Given the description of an element on the screen output the (x, y) to click on. 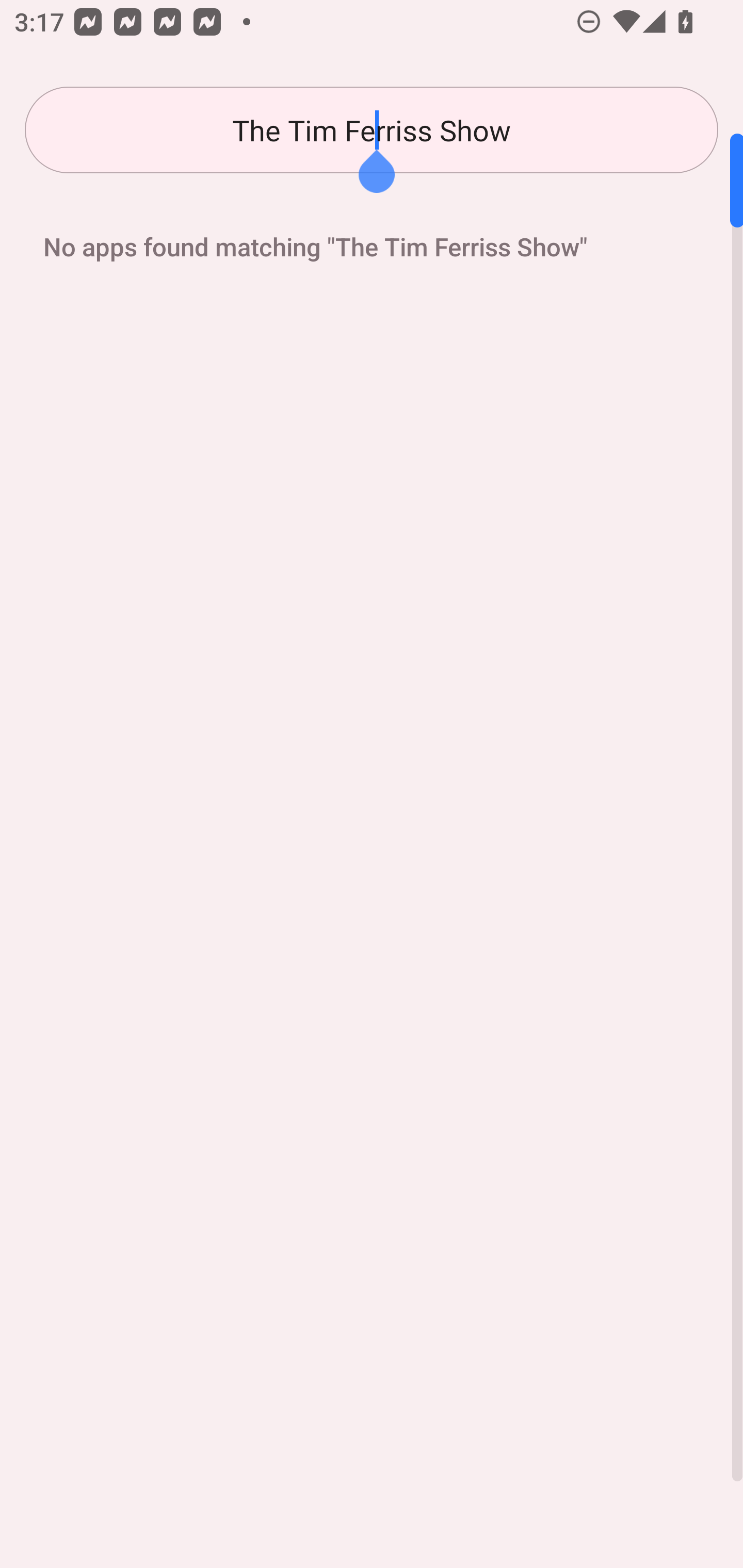
The Tim Ferriss Show (371, 130)
